Given the description of an element on the screen output the (x, y) to click on. 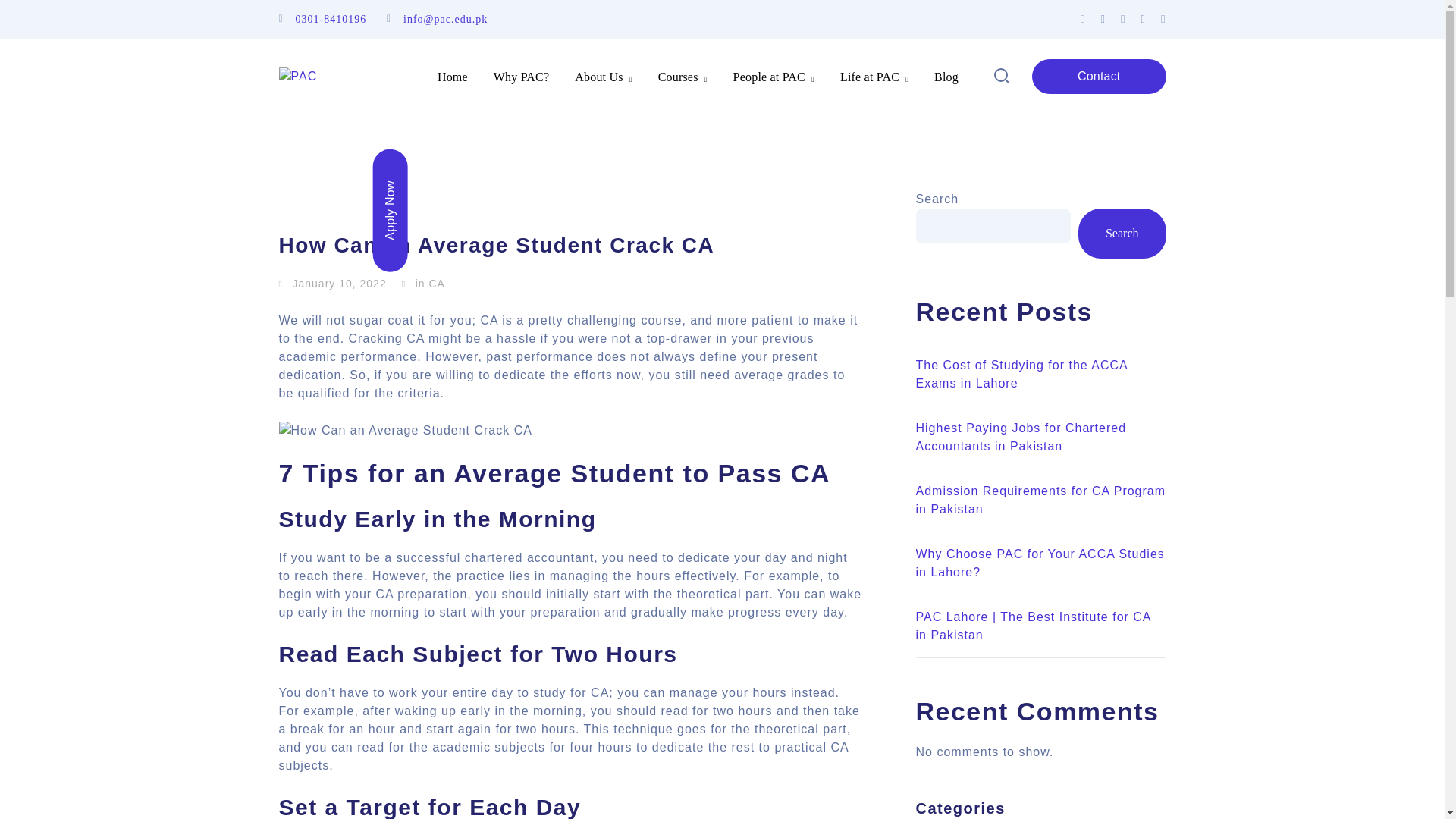
PAC (298, 75)
How Can an Average Student Crack CA 1 (405, 430)
Life at PAC (874, 76)
People at PAC (773, 76)
0301-8410196 (330, 19)
